Given the description of an element on the screen output the (x, y) to click on. 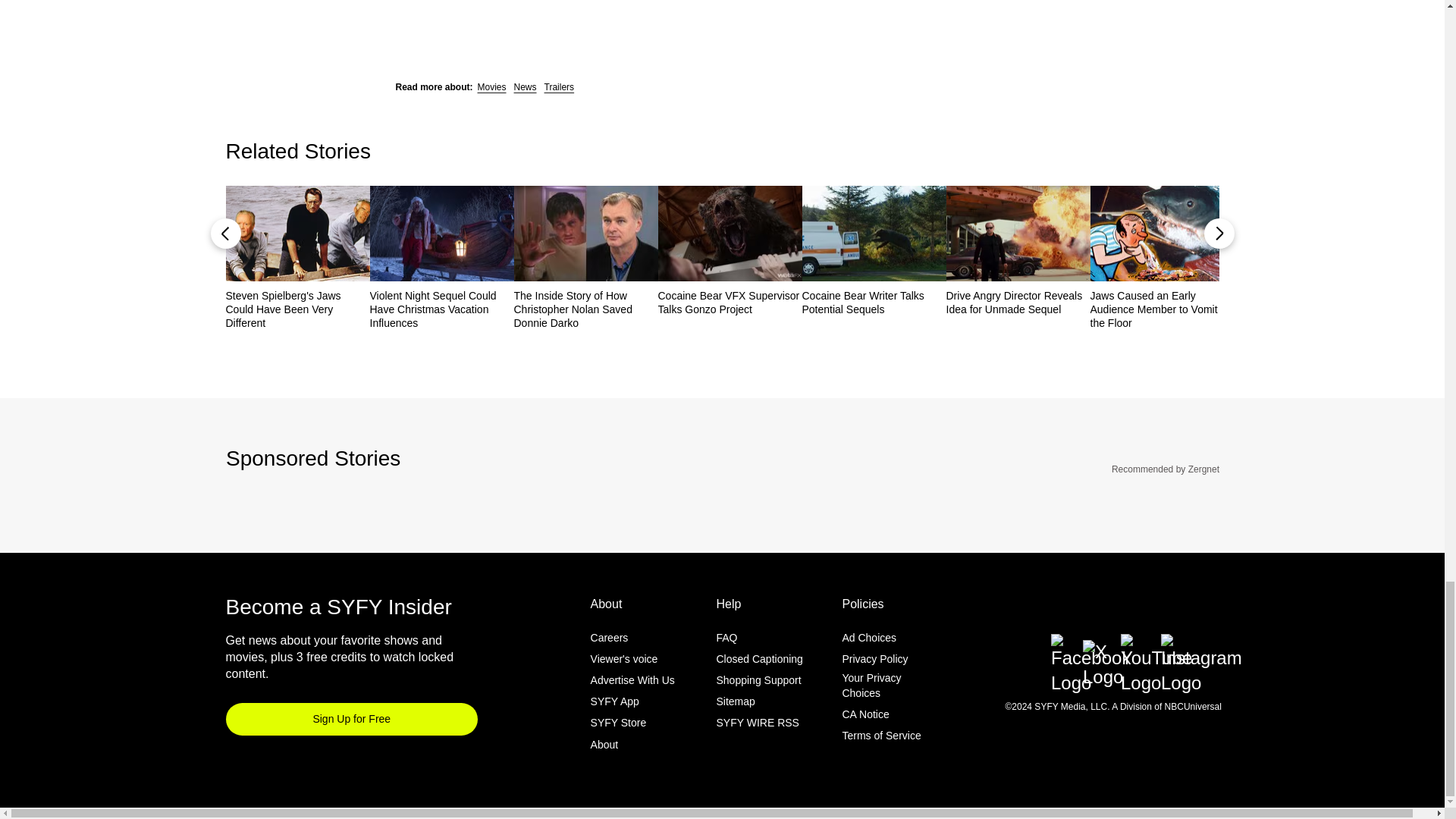
Steven Spielberg's Jaws Could Have Been Very Different (297, 309)
News (525, 86)
The Inside Story of How Christopher Nolan Saved Donnie Darko (585, 309)
Drive Angry Director Reveals Idea for Unmade Sequel (1018, 302)
Cocaine Bear VFX Supervisor Talks Gonzo Project (730, 302)
Movies (491, 86)
Trailers (559, 86)
Cocaine Bear Writer Talks Potential Sequels (874, 302)
